Given the description of an element on the screen output the (x, y) to click on. 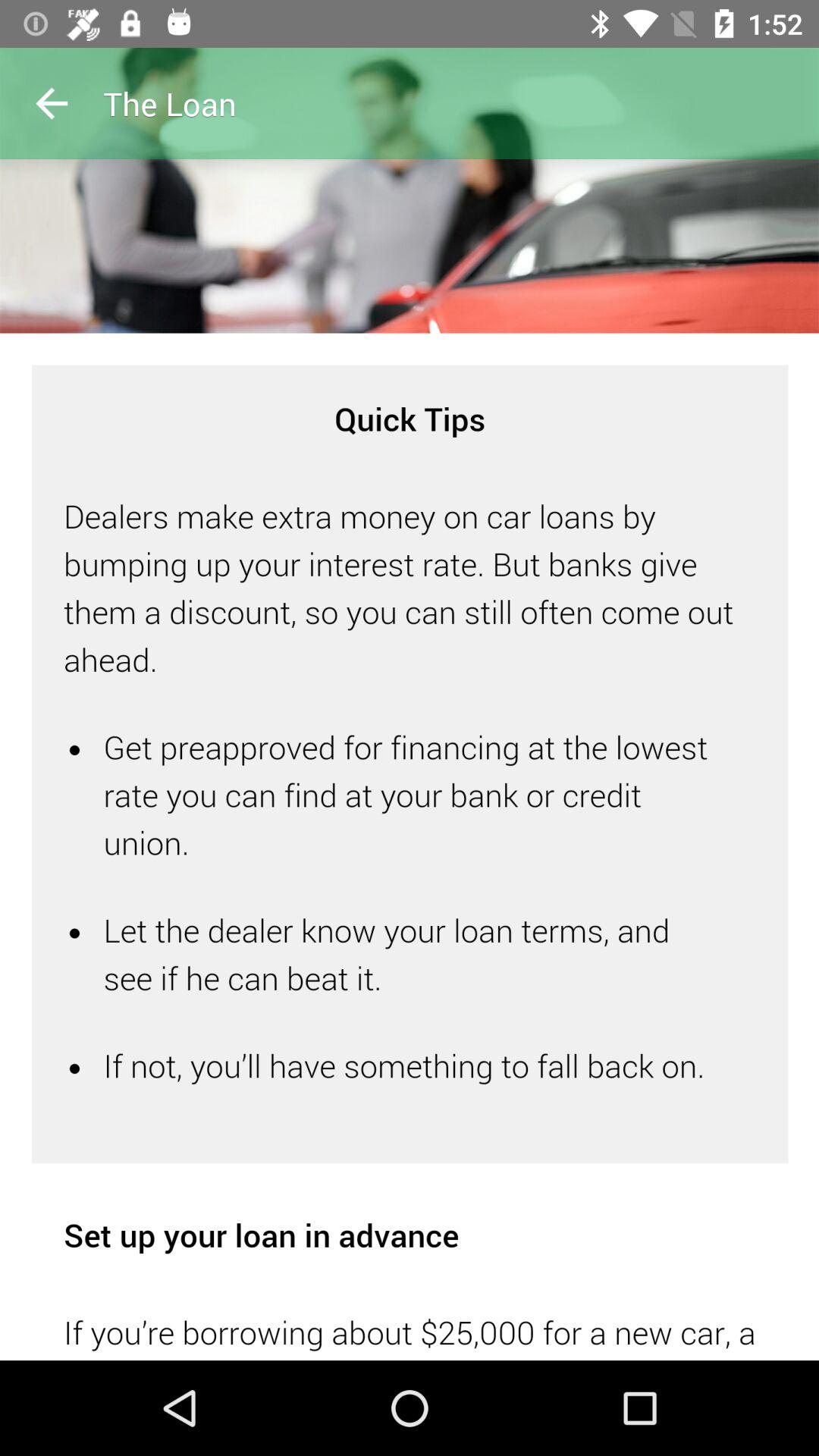
move backward (51, 103)
